Given the description of an element on the screen output the (x, y) to click on. 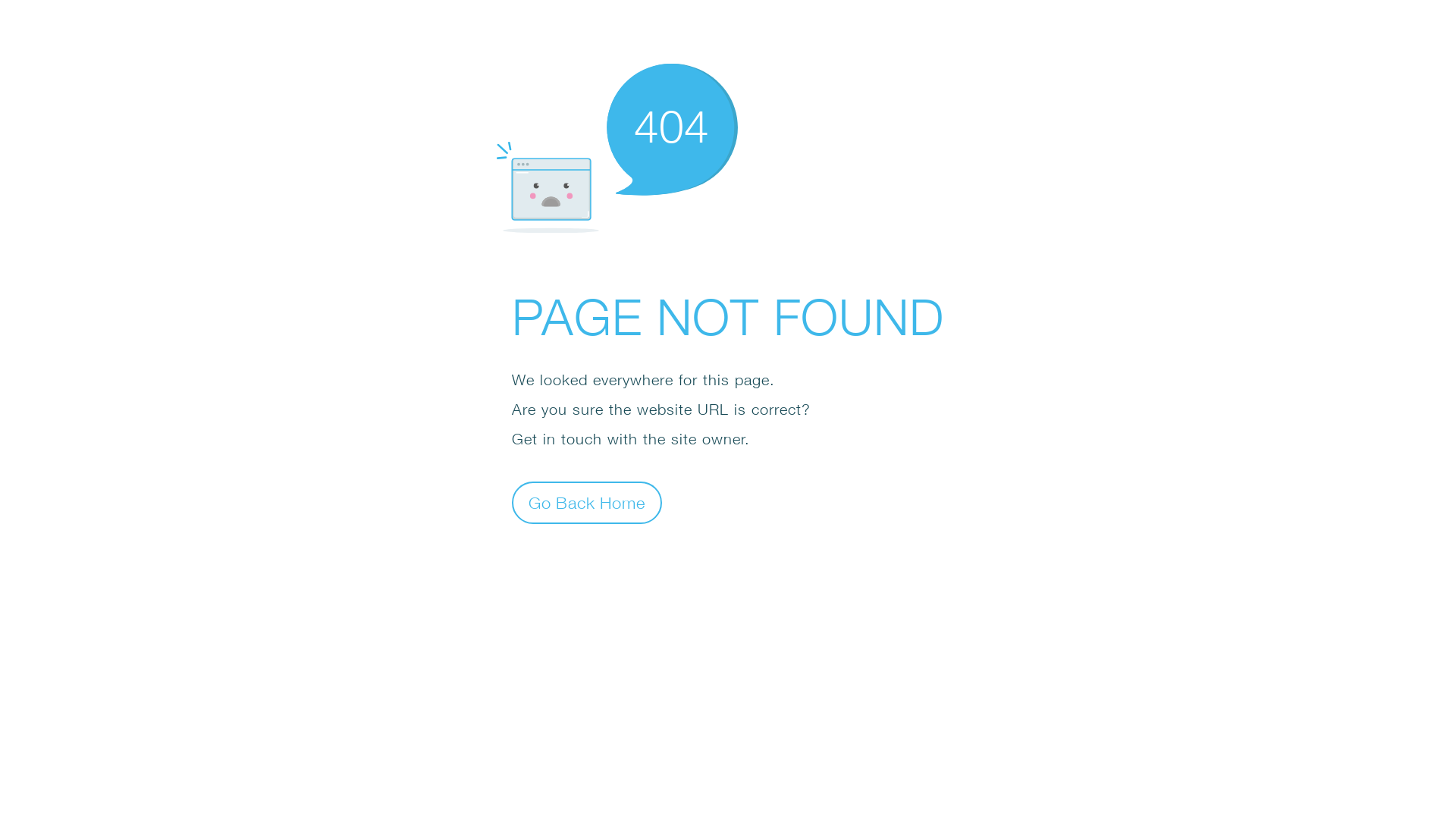
Go Back Home Element type: text (586, 502)
